Given the description of an element on the screen output the (x, y) to click on. 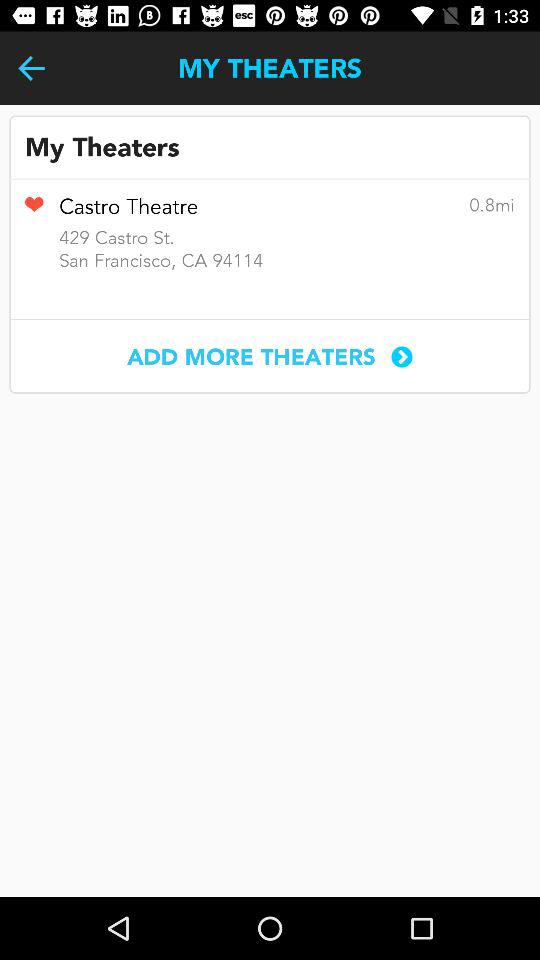
tap the item next to my theaters (31, 67)
